Given the description of an element on the screen output the (x, y) to click on. 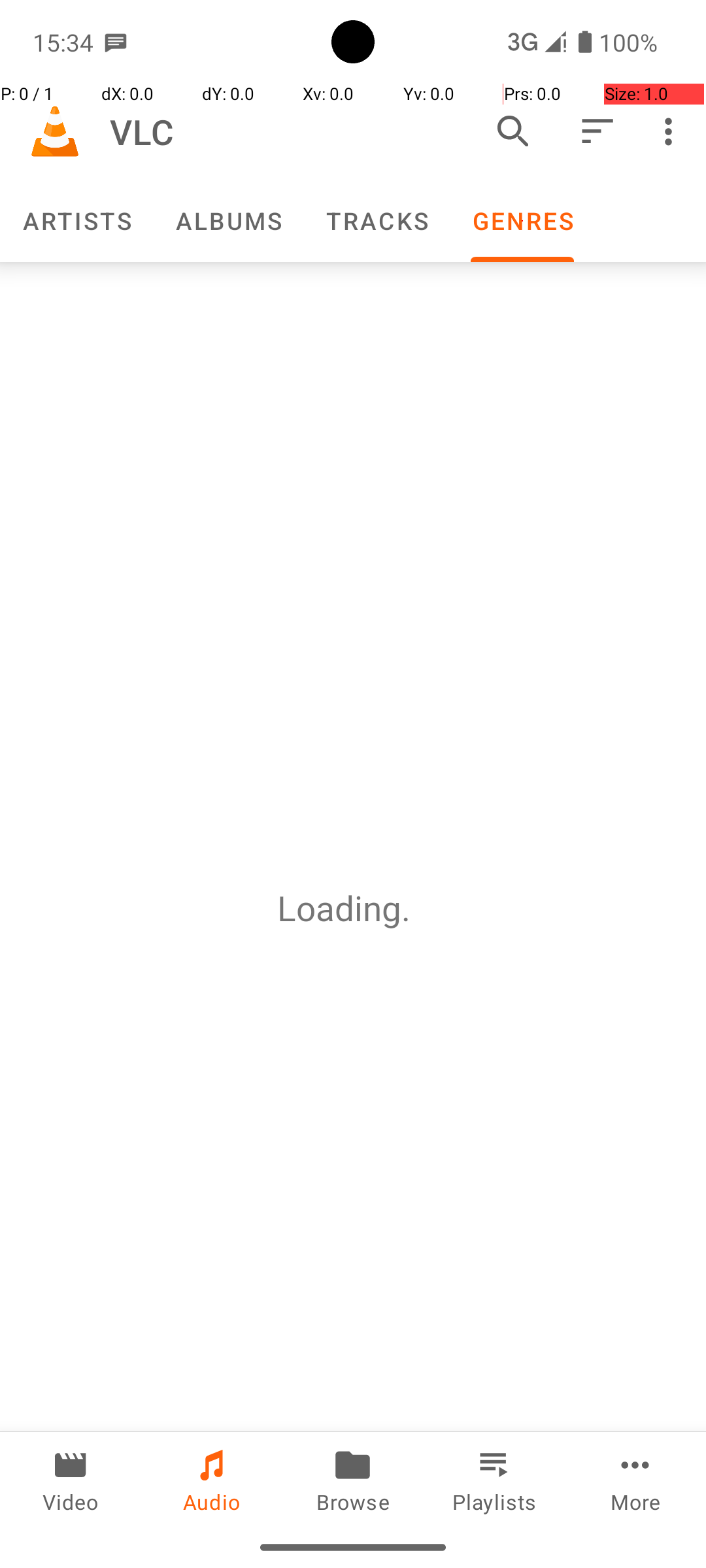
Genres Element type: android.widget.LinearLayout (521, 220)
ARTISTS Element type: android.widget.TextView (76, 220)
ALBUMS Element type: android.widget.TextView (227, 220)
TRACKS Element type: android.widget.TextView (376, 220)
GENRES Element type: android.widget.TextView (521, 220)
